Given the description of an element on the screen output the (x, y) to click on. 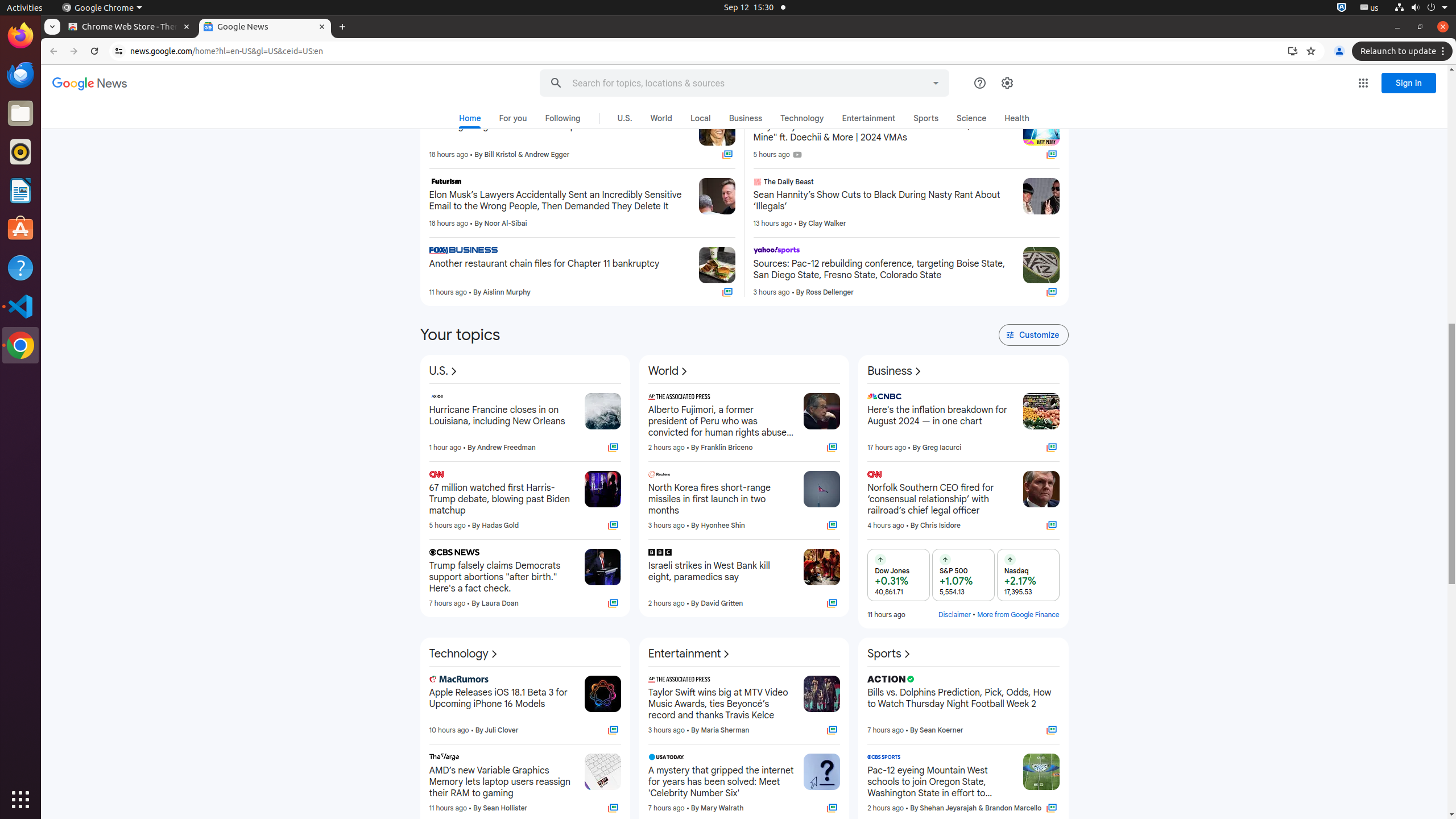
Google Chrome Element type: menu (101, 7)
More - Norfolk Southern CEO fired for ‘consensual relationship’ with railroad’s chief legal officer Element type: push-button (1010, 476)
More - Bills vs. Dolphins Prediction, Pick, Odds, How to Watch Thursday Night Football Week 2 Element type: push-button (1055, 680)
S&P 500 +1.07% 5,554.13 Element type: link (962, 574)
Visual Studio Code Element type: push-button (20, 306)
